Given the description of an element on the screen output the (x, y) to click on. 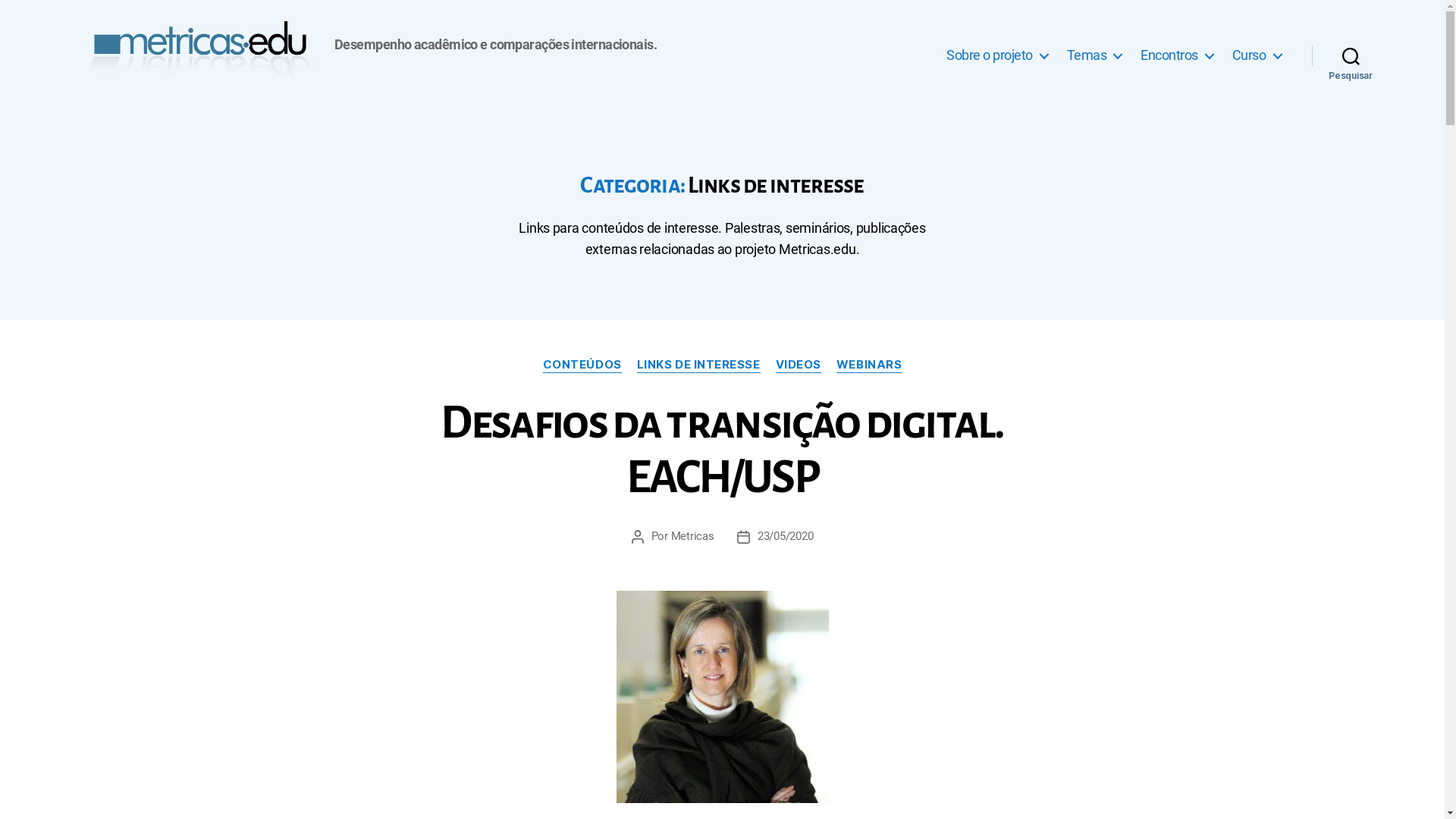
Curso Element type: text (1256, 55)
Metricas Element type: text (692, 536)
VIDEOS Element type: text (798, 365)
Encontros Element type: text (1176, 55)
23/05/2020 Element type: text (785, 536)
Temas Element type: text (1094, 55)
LINKS DE INTERESSE Element type: text (698, 365)
Pesquisar Element type: text (1350, 55)
Sobre o projeto Element type: text (997, 55)
WEBINARS Element type: text (868, 365)
